Given the description of an element on the screen output the (x, y) to click on. 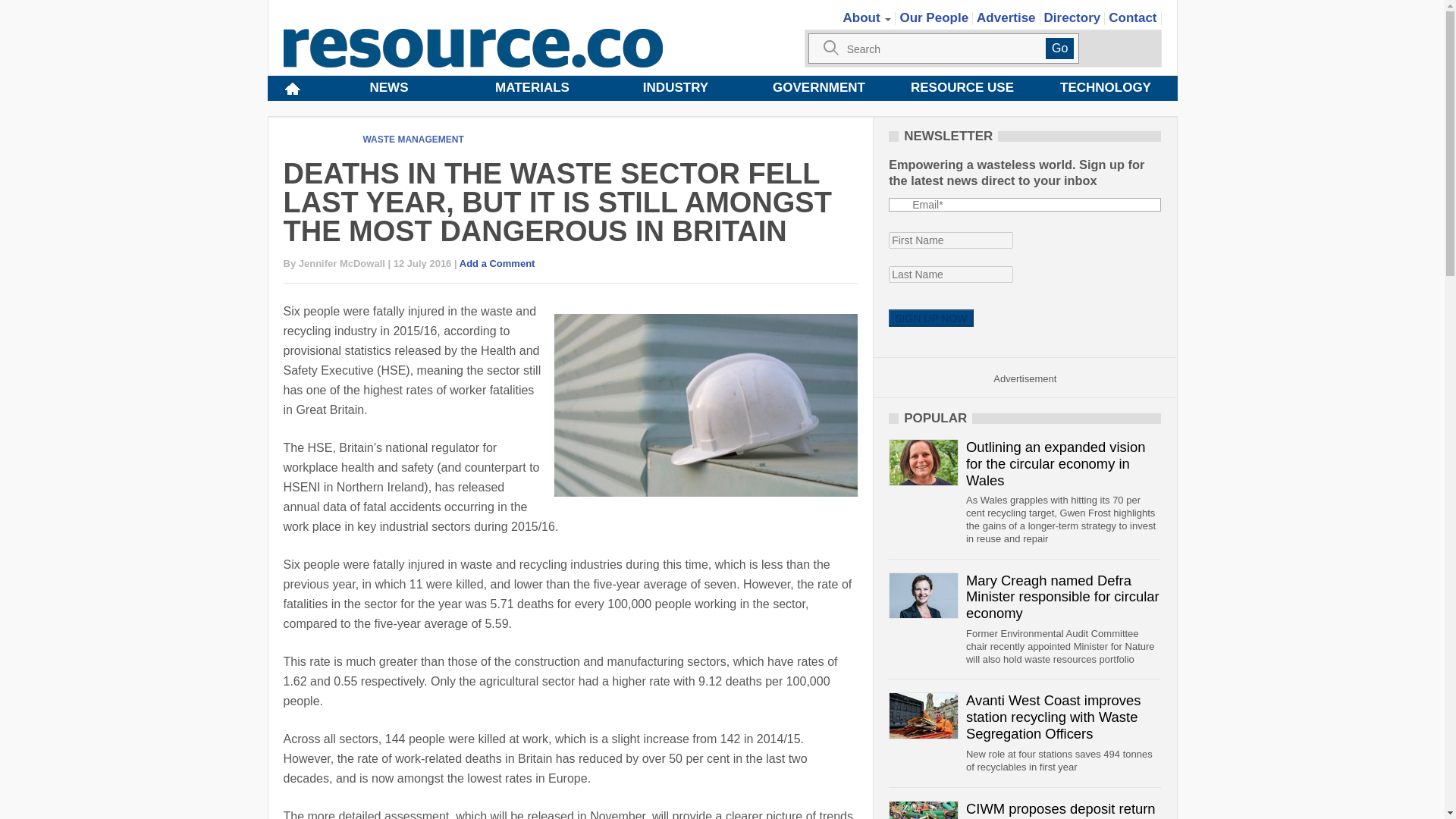
About (868, 18)
News (388, 88)
Advertise (1005, 18)
About (868, 18)
Industry (675, 88)
Our People (933, 18)
Our People (933, 18)
Home (290, 88)
NEWS (388, 88)
Go (1059, 47)
SIGN UP NOW (930, 317)
Materials (532, 88)
Directory (1073, 18)
Go (1059, 47)
Enter the terms you wish to search for. (944, 48)
